Given the description of an element on the screen output the (x, y) to click on. 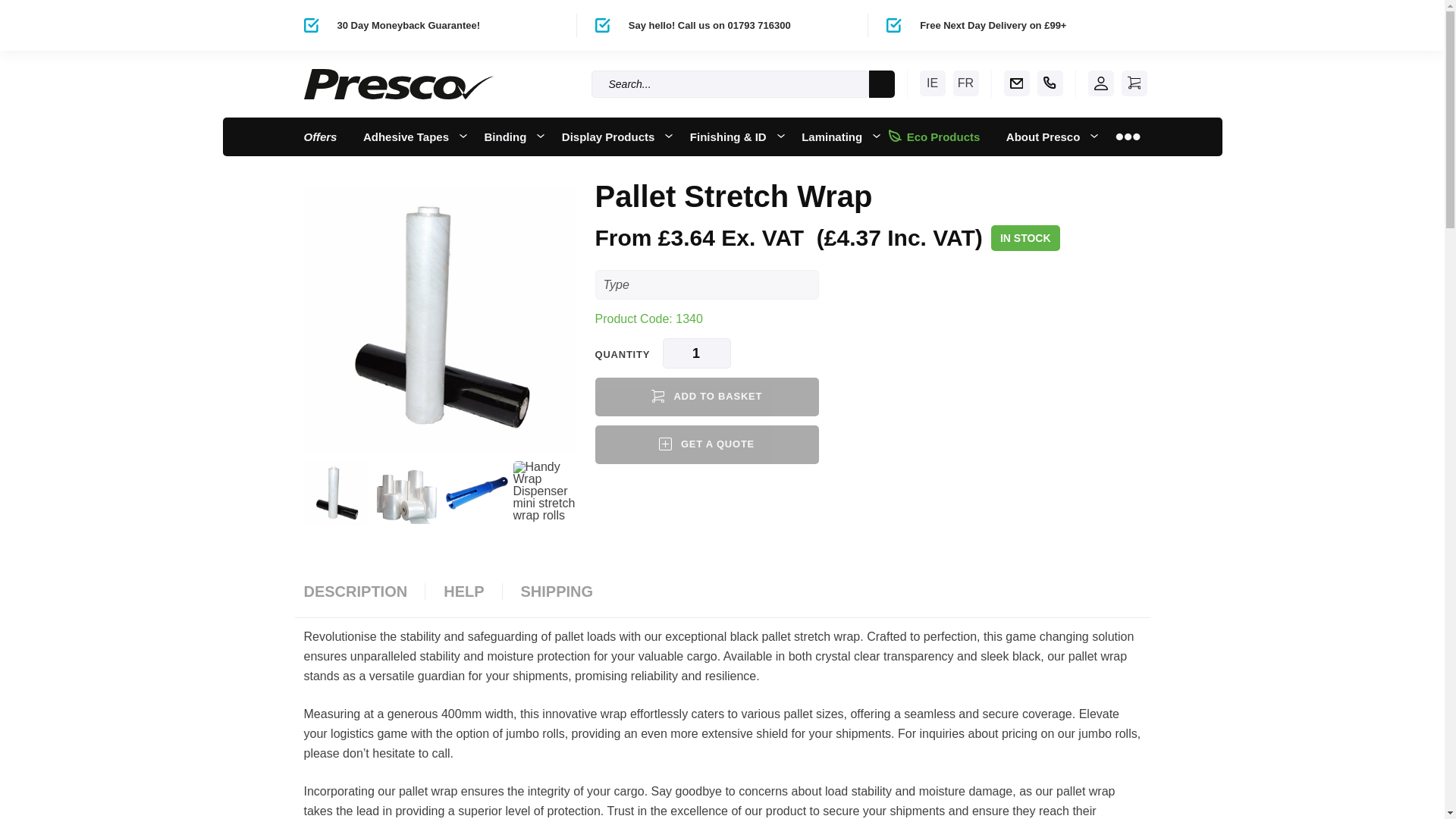
IE (931, 83)
FR (965, 83)
Adhesive Tapes (410, 136)
Binding (509, 136)
1 (696, 353)
Display Products (612, 136)
Offers (320, 136)
Search... (730, 83)
Search (882, 83)
Search (882, 83)
